Given the description of an element on the screen output the (x, y) to click on. 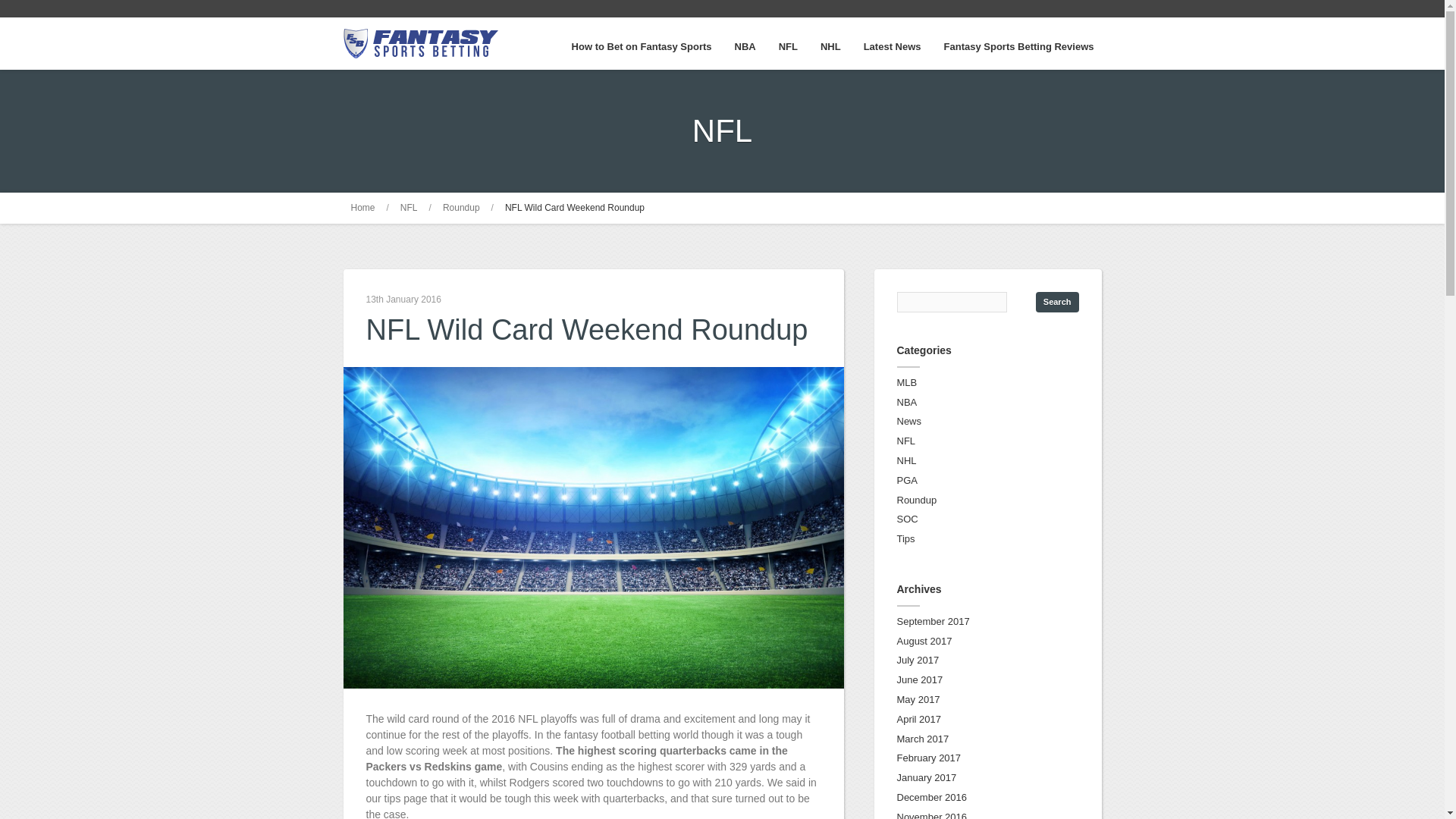
August 2017 (924, 641)
Roundup (461, 207)
July 2017 (917, 659)
PGA (906, 480)
Roundup (916, 500)
NBA (744, 46)
Tips (905, 538)
Search (1056, 301)
NFL Wild Card Weekend Roundup (575, 207)
MLB (906, 382)
NBA (906, 401)
NFL (408, 207)
NFL (905, 440)
How to Bet on Fantasy Sports (641, 46)
September 2017 (932, 621)
